Given the description of an element on the screen output the (x, y) to click on. 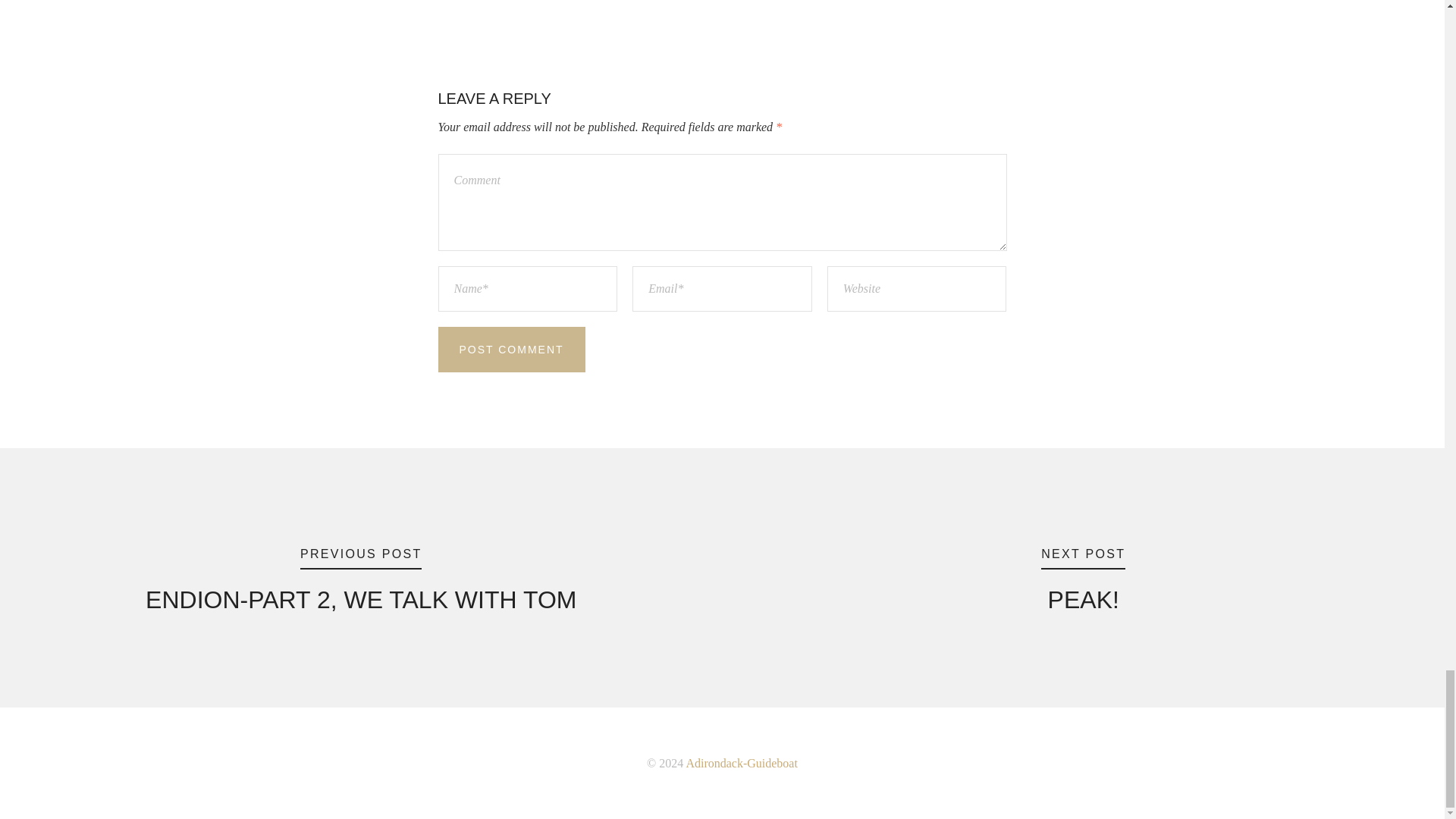
Post Comment (511, 349)
Adirondack-Guideboat (361, 579)
Post Comment (1083, 579)
